Given the description of an element on the screen output the (x, y) to click on. 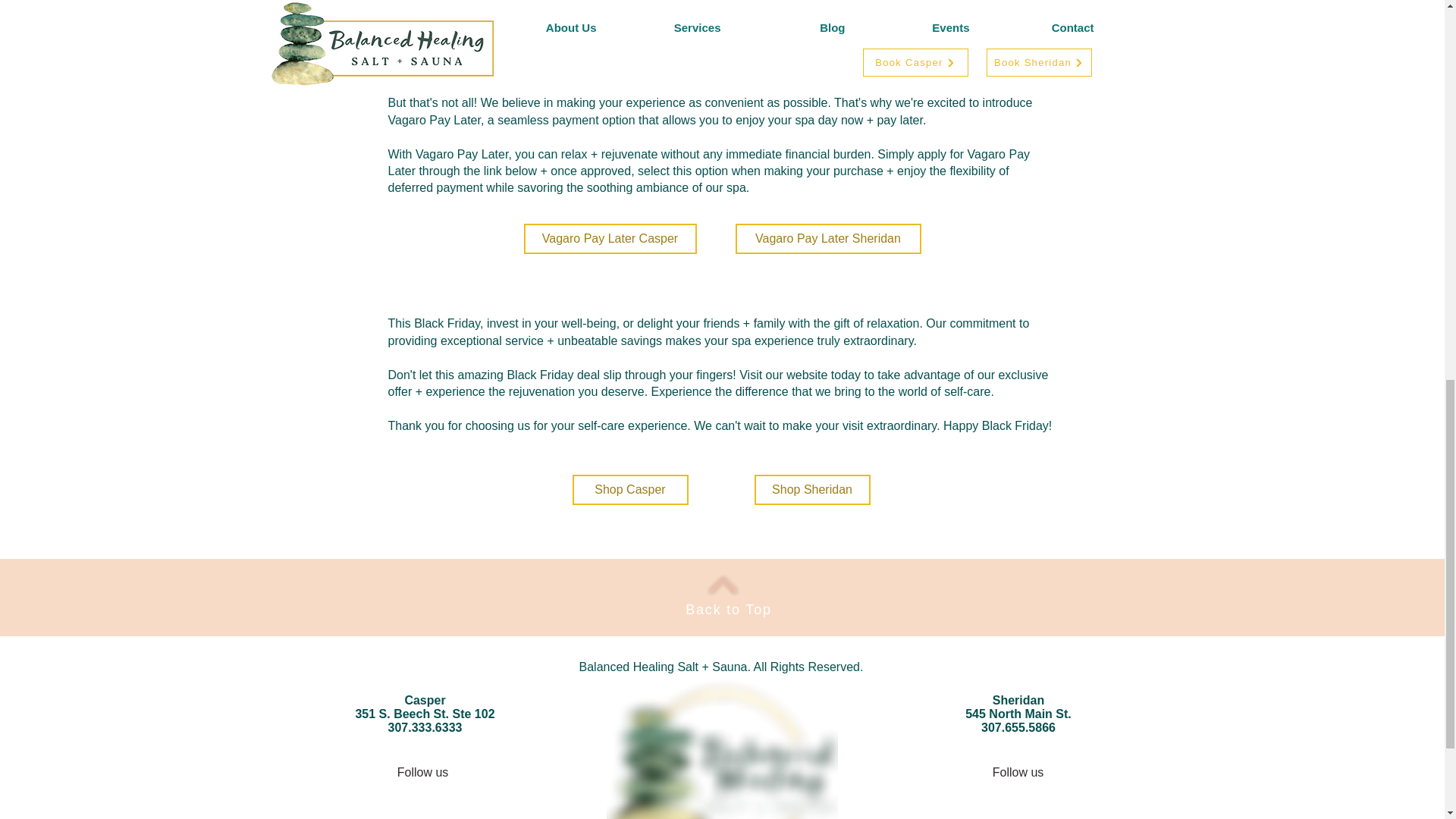
Shop Sheridan (811, 490)
Vagaro Pay Later Casper (608, 238)
Shop Casper (629, 490)
Back to Top (728, 609)
Vagaro Pay Later Sheridan (828, 238)
